Given the description of an element on the screen output the (x, y) to click on. 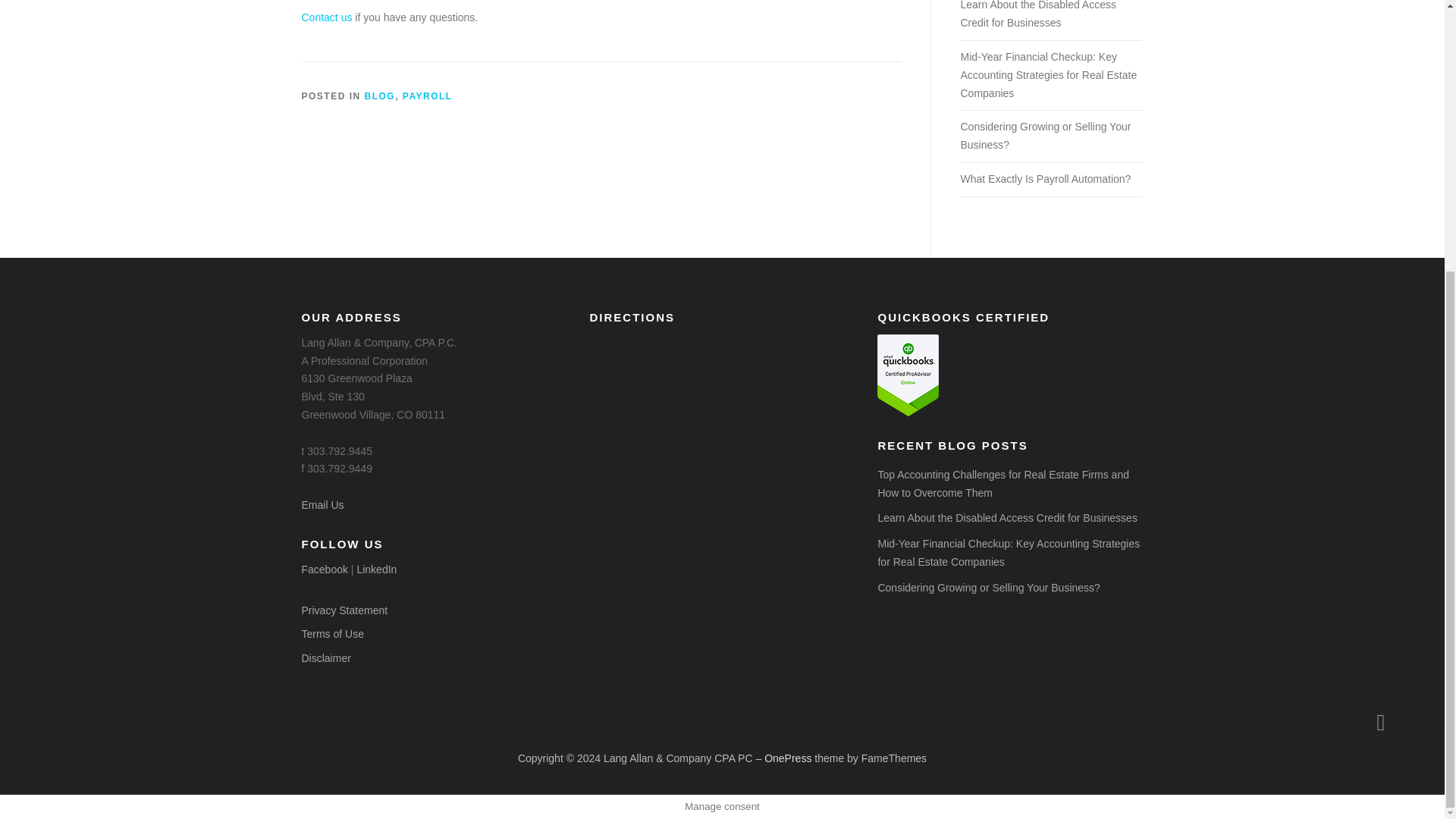
Contact (326, 17)
Back To Top (1372, 715)
Contact us (326, 17)
